Given the description of an element on the screen output the (x, y) to click on. 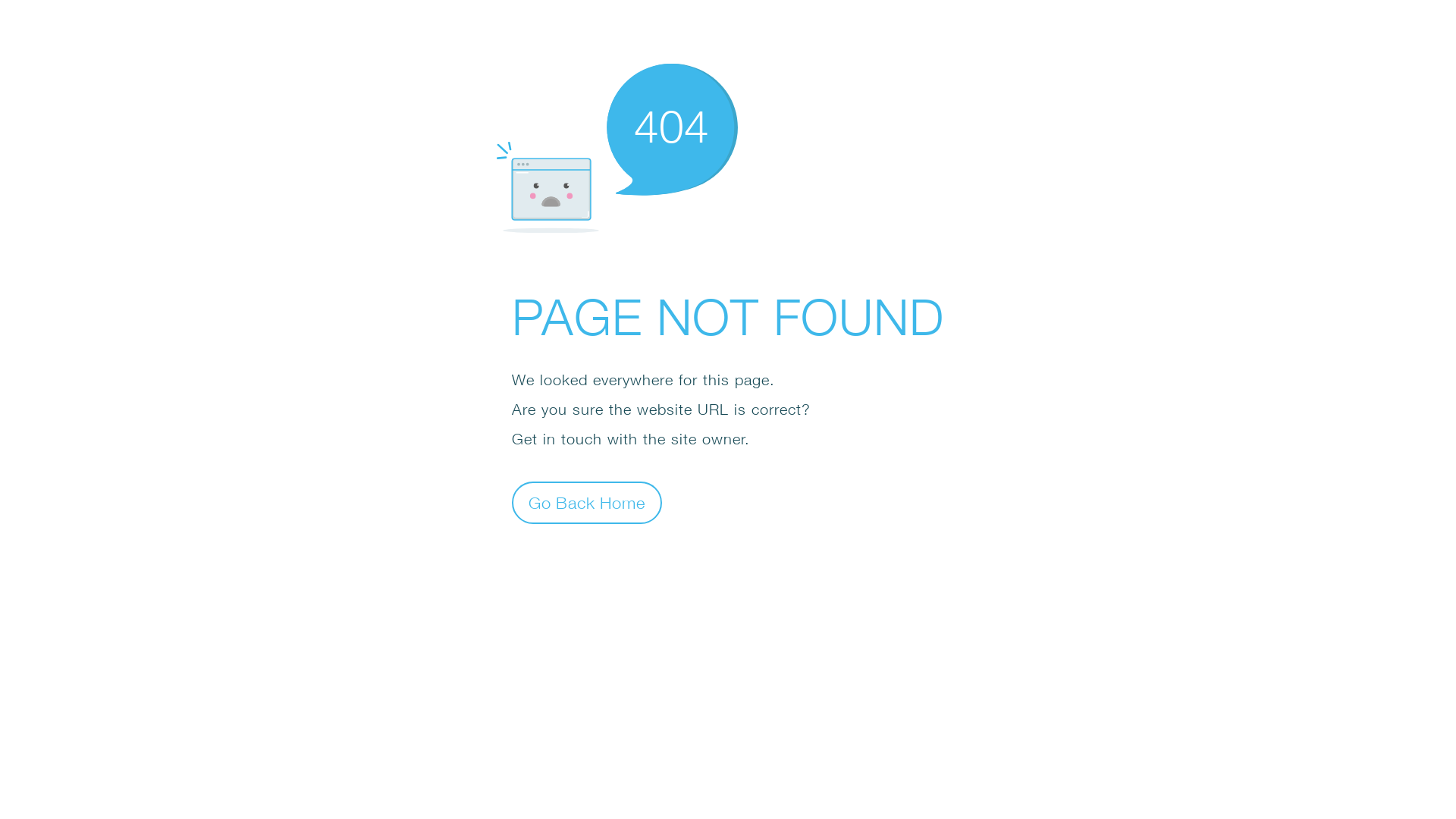
Go Back Home Element type: text (586, 502)
